Given the description of an element on the screen output the (x, y) to click on. 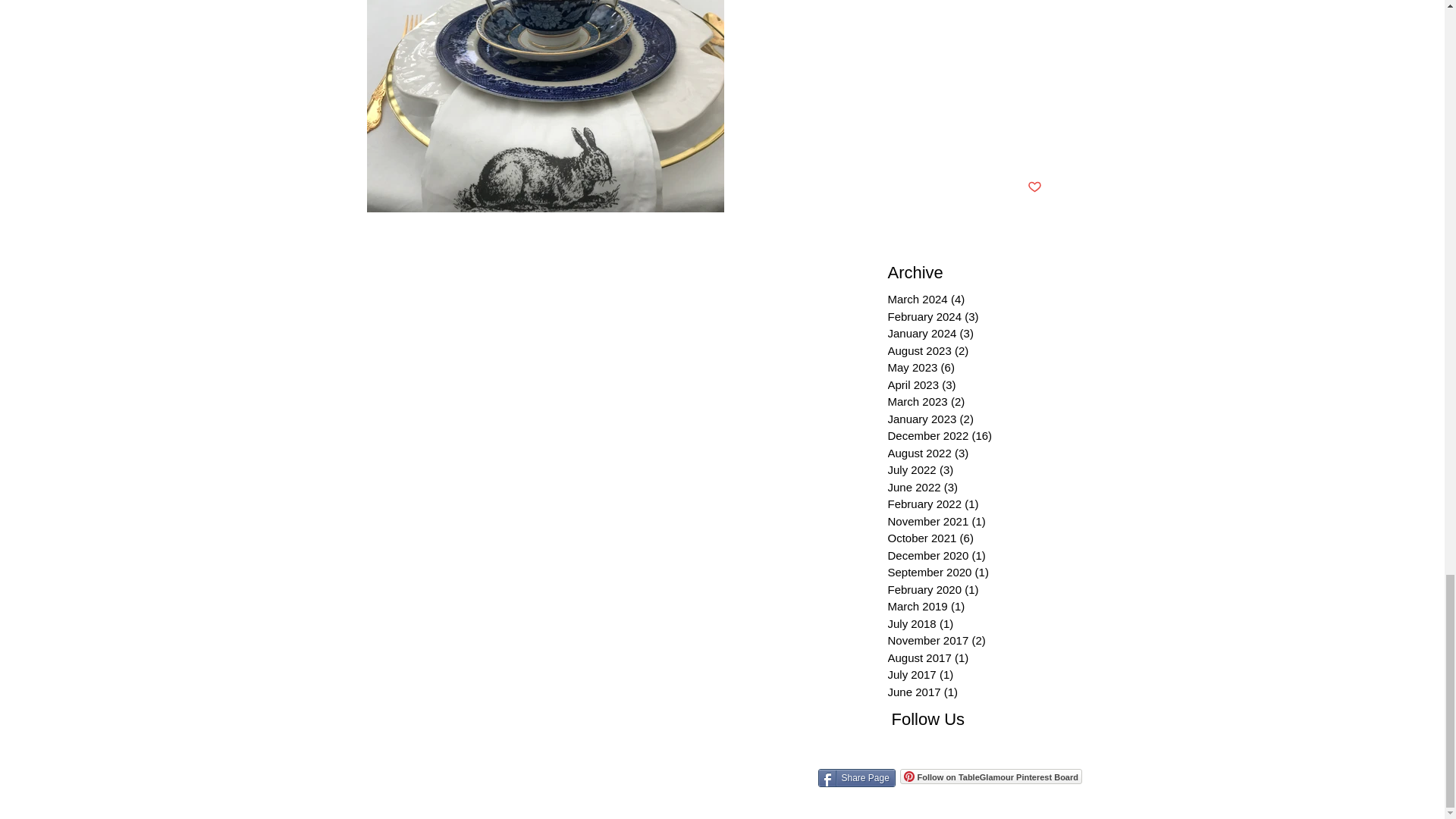
Twitter Follow (974, 749)
Share Page (855, 778)
Follow on TableGlamour Pinterest Board (990, 776)
